Given the description of an element on the screen output the (x, y) to click on. 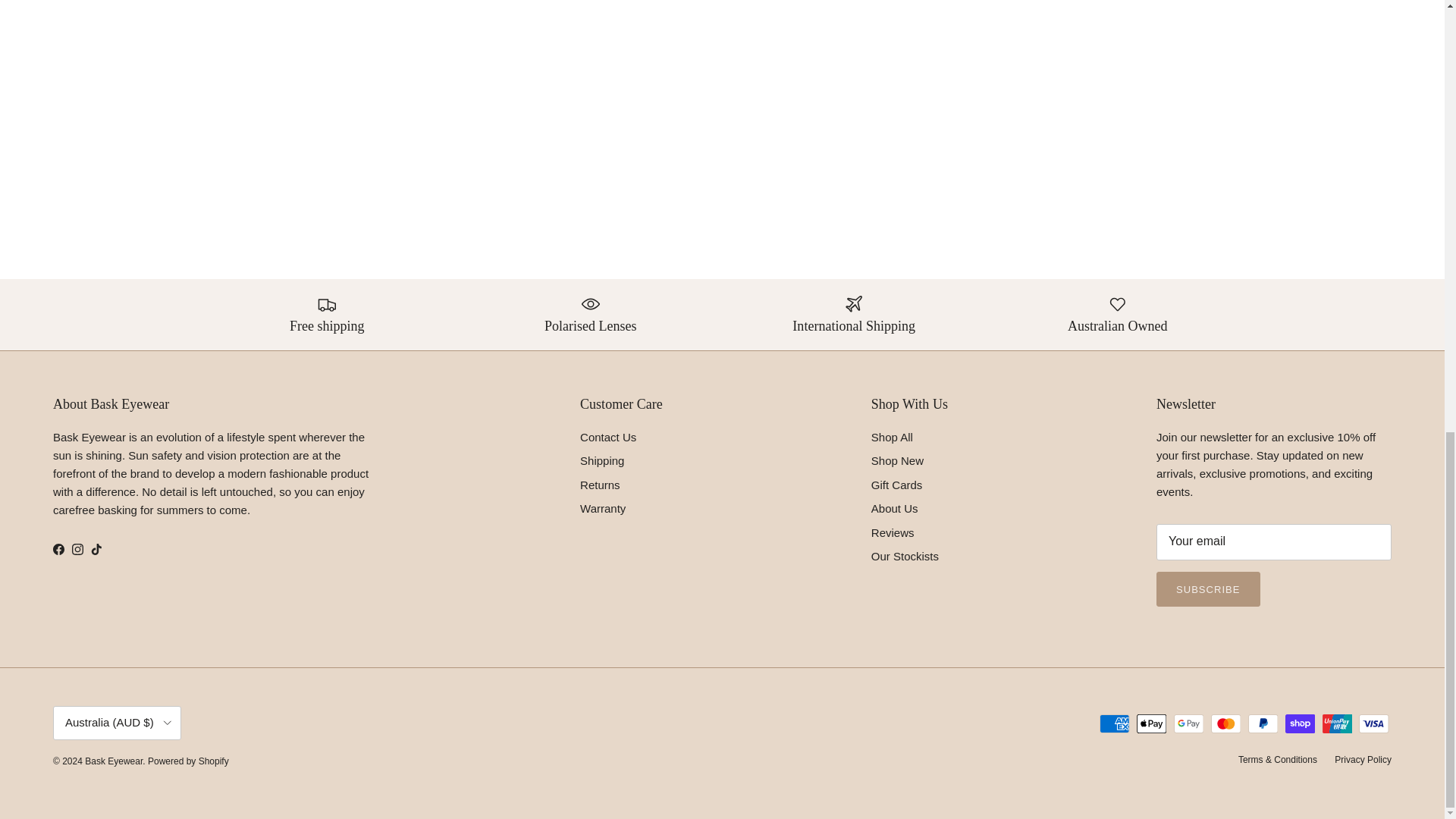
Shop Pay (1299, 723)
American Express (1114, 723)
Bask Eyewear on TikTok (95, 549)
Google Pay (1188, 723)
Bask Eyewear on Instagram (76, 549)
Bask Eyewear on Facebook (58, 549)
Apple Pay (1151, 723)
Mastercard (1225, 723)
PayPal (1262, 723)
